Given the description of an element on the screen output the (x, y) to click on. 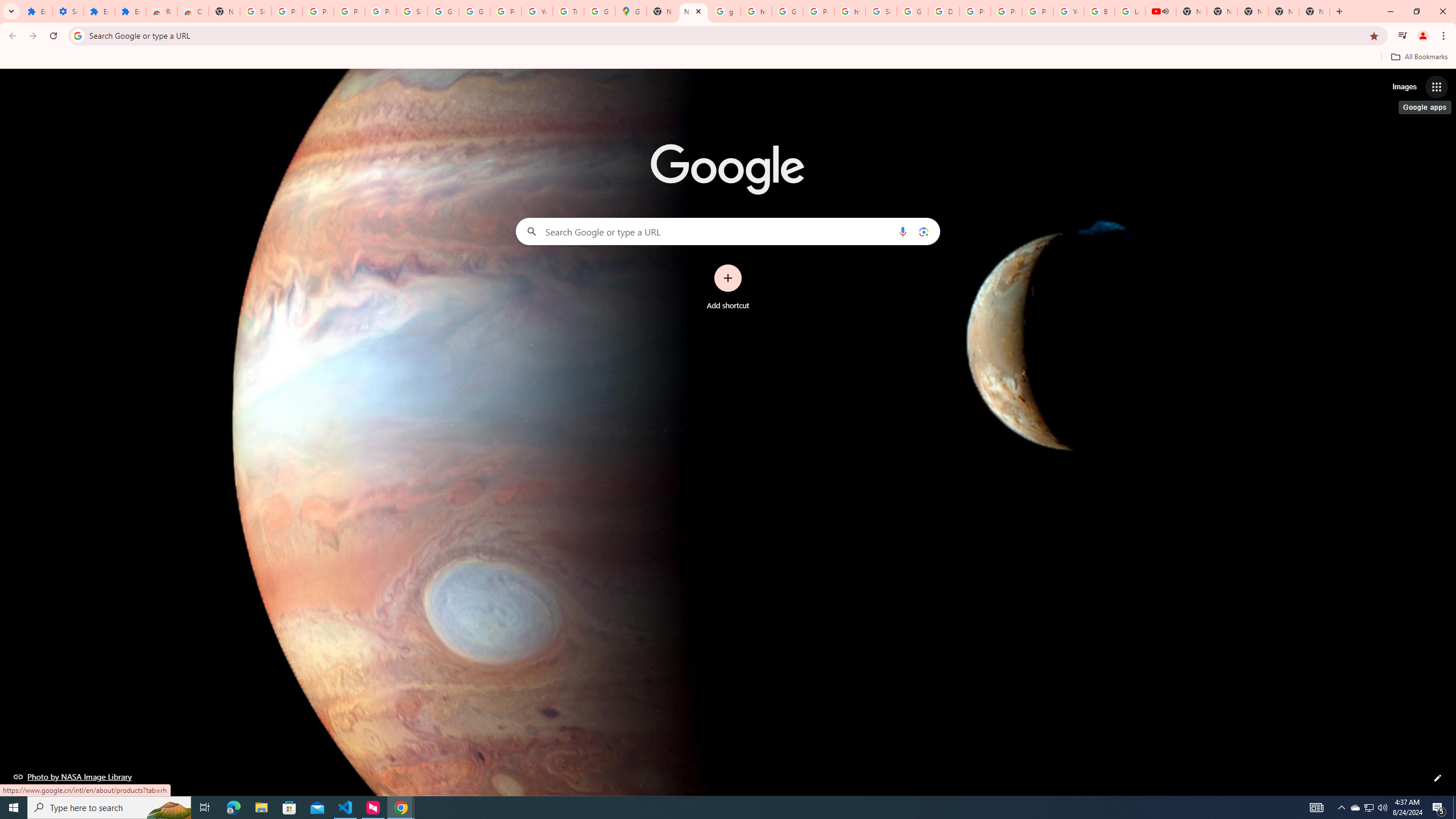
New Tab (223, 11)
Google Maps (631, 11)
Chrome Web Store - Themes (192, 11)
Extensions (36, 11)
